Given the description of an element on the screen output the (x, y) to click on. 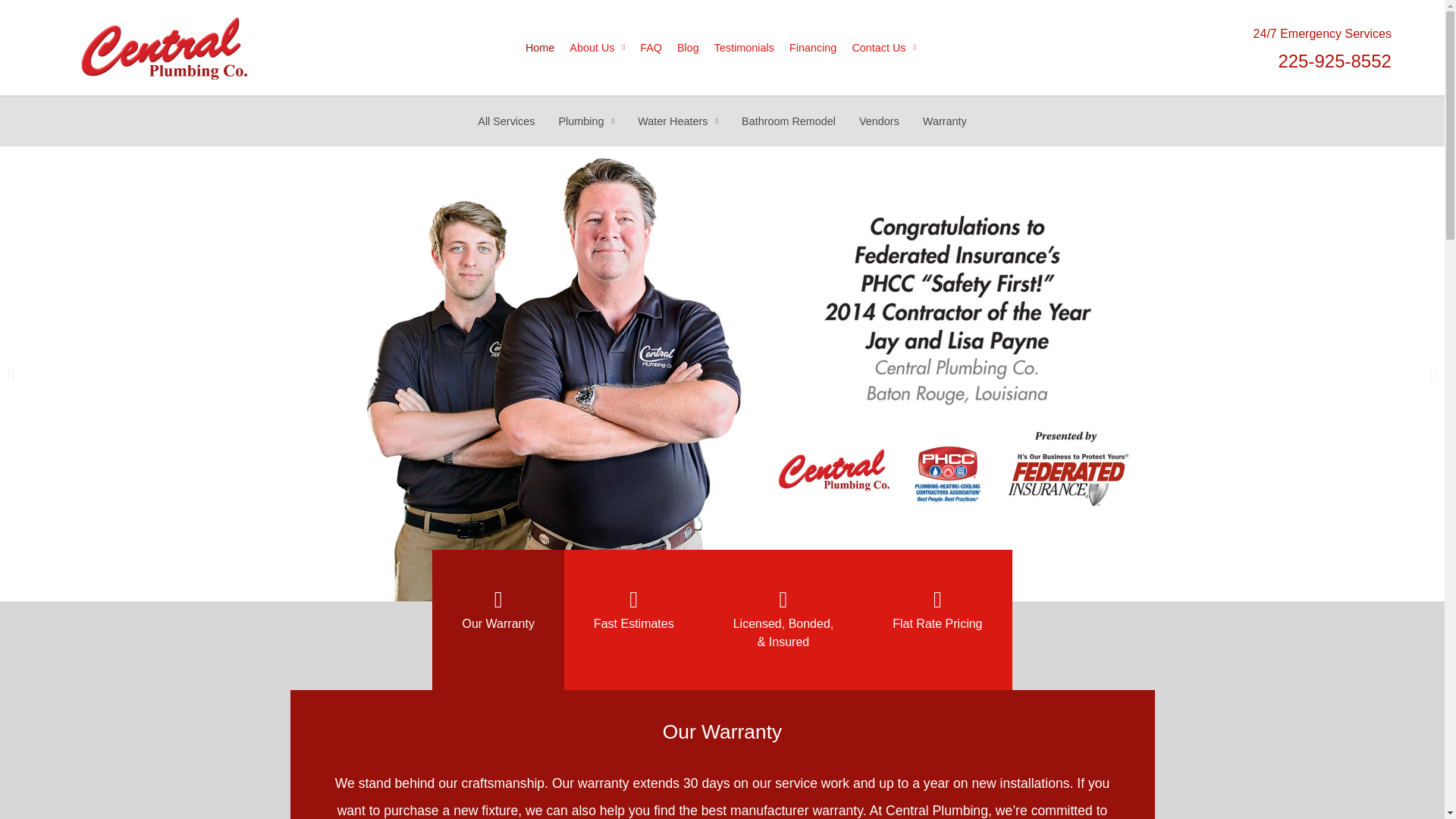
Financing (812, 47)
Blog (687, 47)
All Services (505, 121)
Home (540, 47)
Vendors (879, 121)
Plumbing (585, 121)
225-925-8552 (1334, 60)
Warranty (944, 121)
About Us (596, 47)
Contact Us (883, 47)
Bathroom Remodel (788, 121)
Testimonials (743, 47)
FAQ (650, 47)
Water Heaters (677, 121)
